Given the description of an element on the screen output the (x, y) to click on. 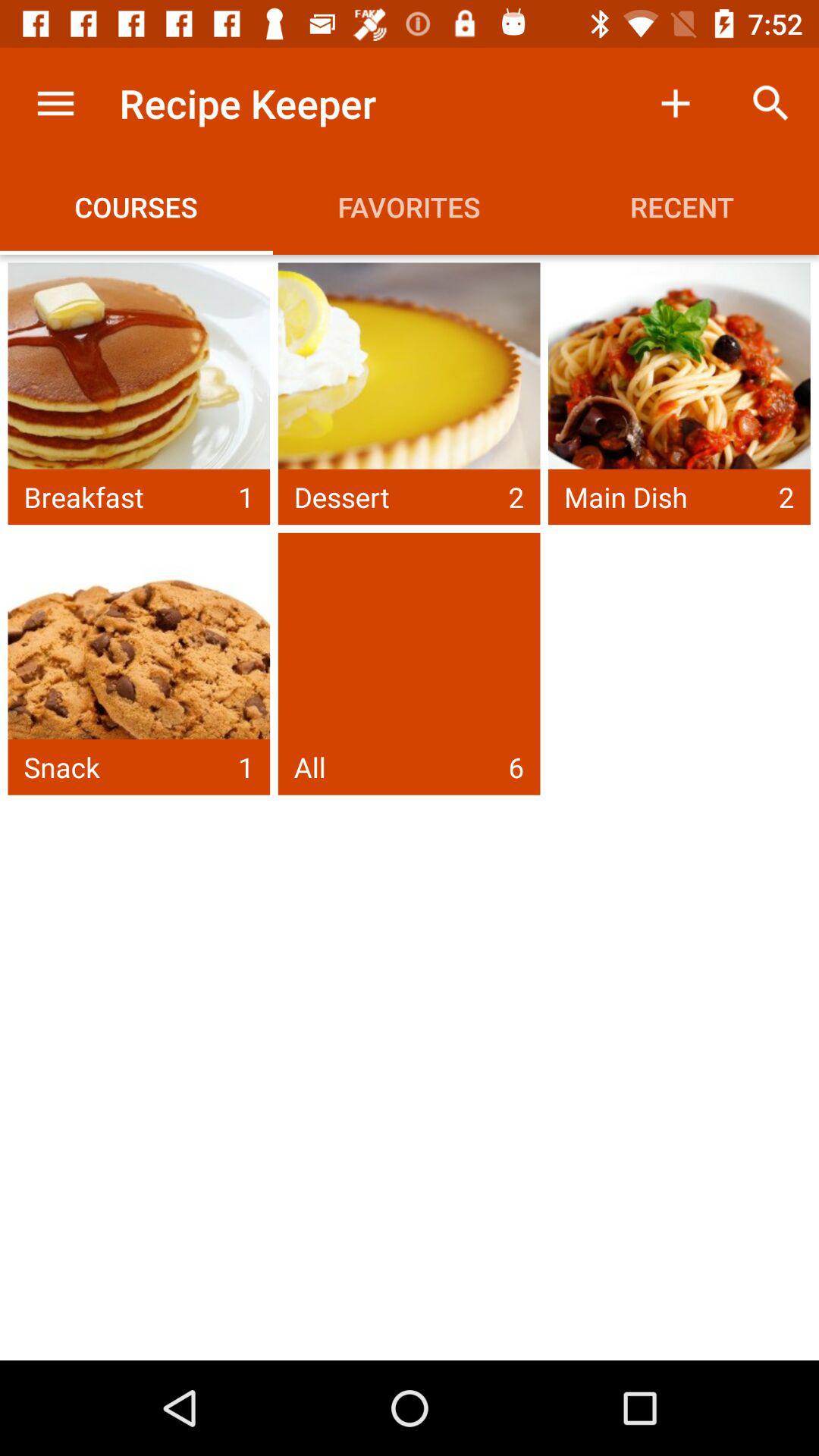
press item above the courses (55, 103)
